Given the description of an element on the screen output the (x, y) to click on. 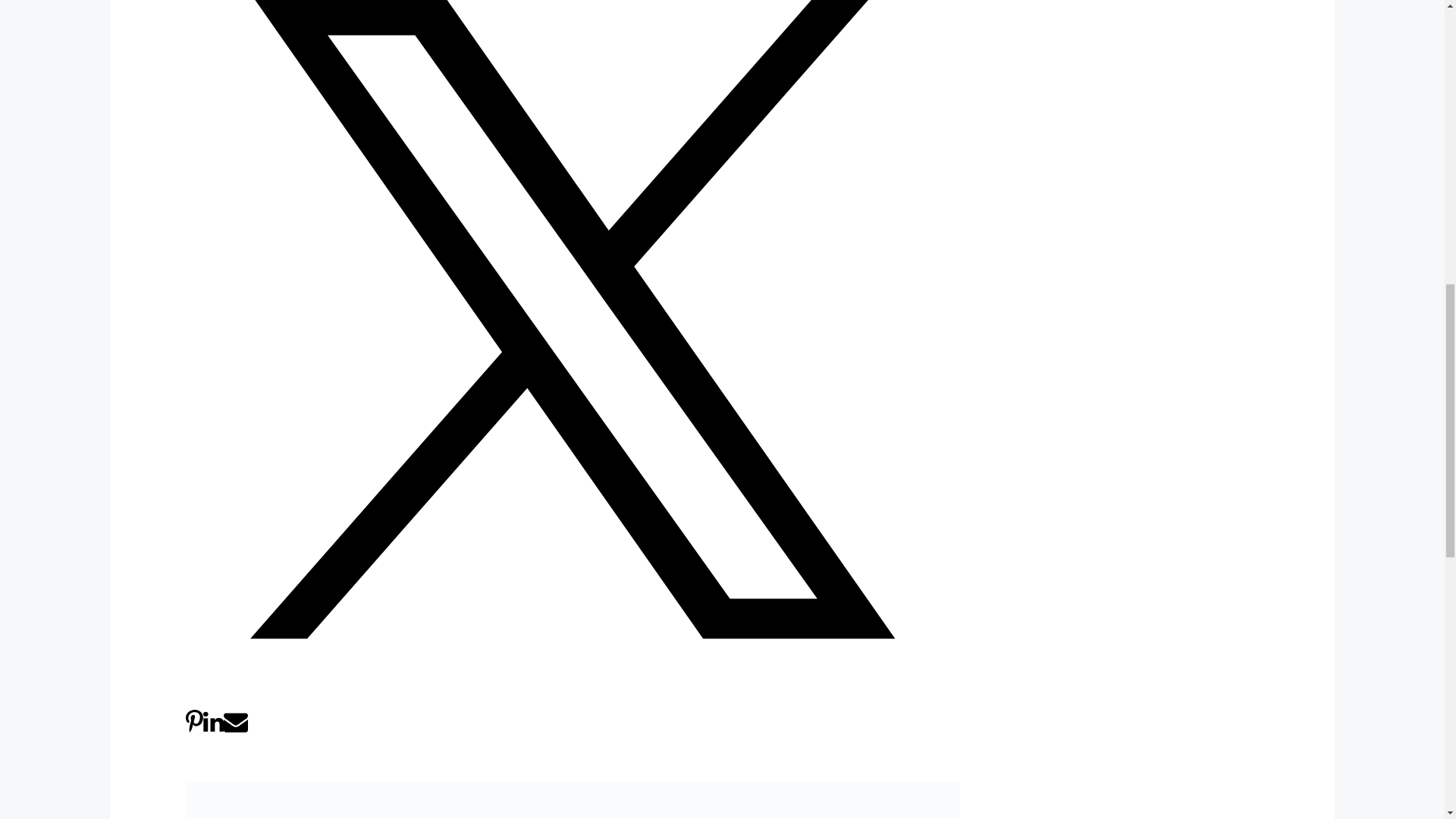
Share on LinkedIn (213, 729)
Share on Pinterest (194, 729)
Share on Twitter (572, 698)
Share via Email (235, 729)
